Given the description of an element on the screen output the (x, y) to click on. 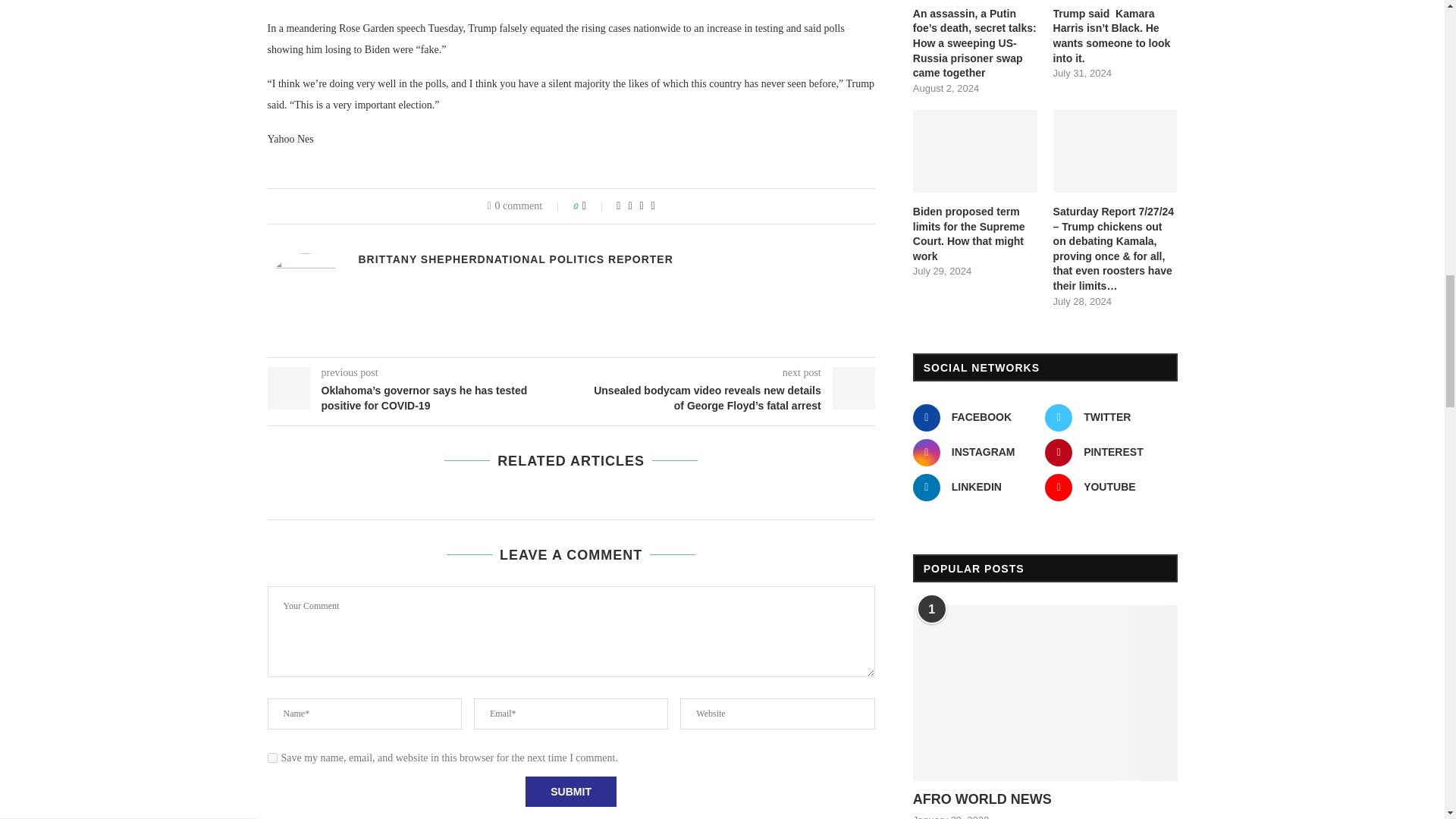
Submit (570, 791)
Like (594, 205)
Posts by Brittany ShepherdNational Politics Reporter (515, 259)
yes (271, 757)
